Given the description of an element on the screen output the (x, y) to click on. 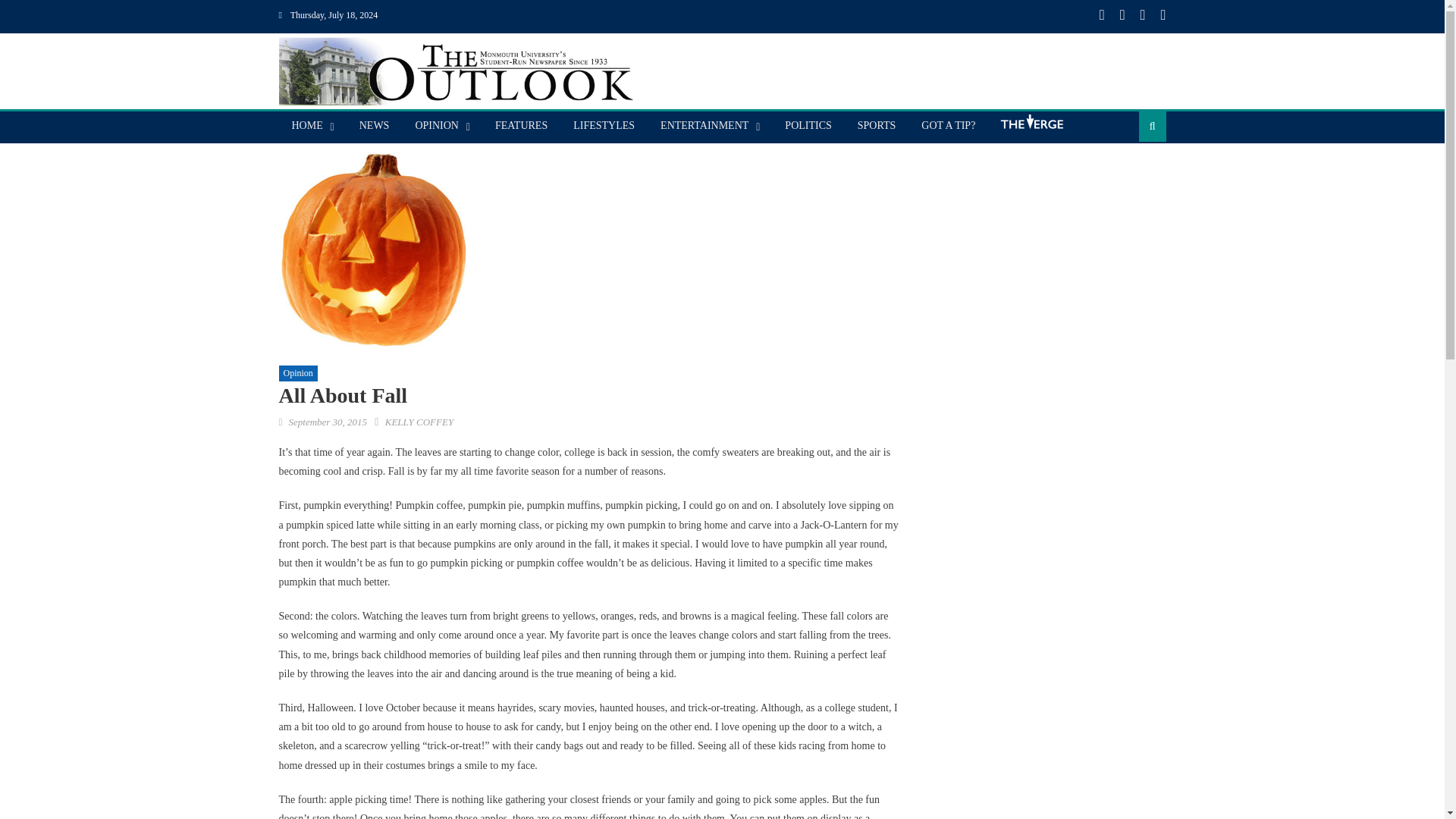
Posts by KELLY COFFEY (418, 421)
Search (1128, 175)
GOT A TIP? (948, 125)
THE VERGE (1030, 127)
SPORTS (876, 125)
KELLY COFFEY (418, 421)
HOME (307, 125)
ENTERTAINMENT (704, 125)
NEWS (374, 125)
FEATURES (521, 125)
September 30, 2015 (327, 421)
OPINION (436, 125)
LIFESTYLES (604, 125)
POLITICS (808, 125)
Opinion (298, 373)
